Given the description of an element on the screen output the (x, y) to click on. 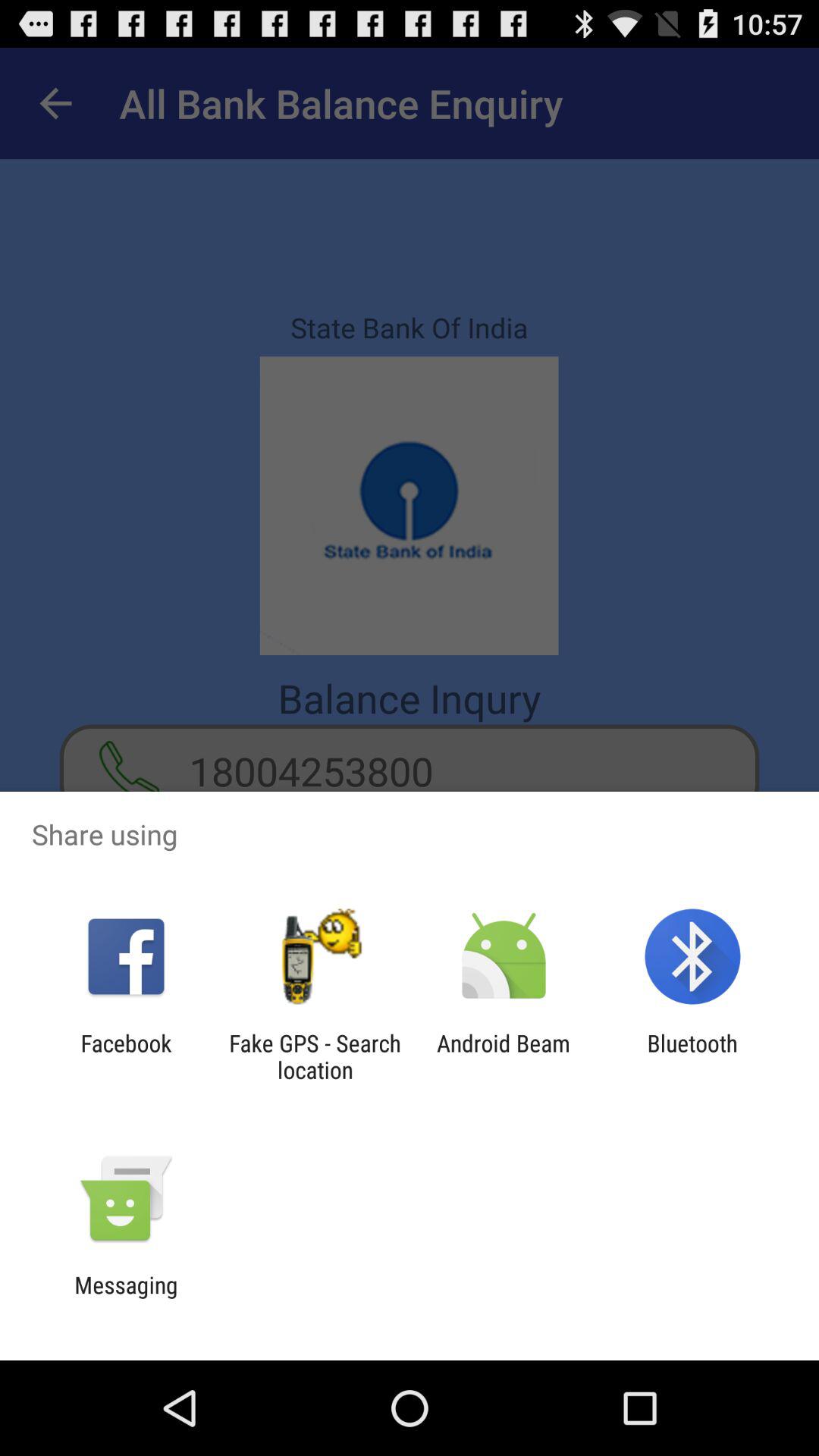
open the app to the right of facebook (314, 1056)
